Given the description of an element on the screen output the (x, y) to click on. 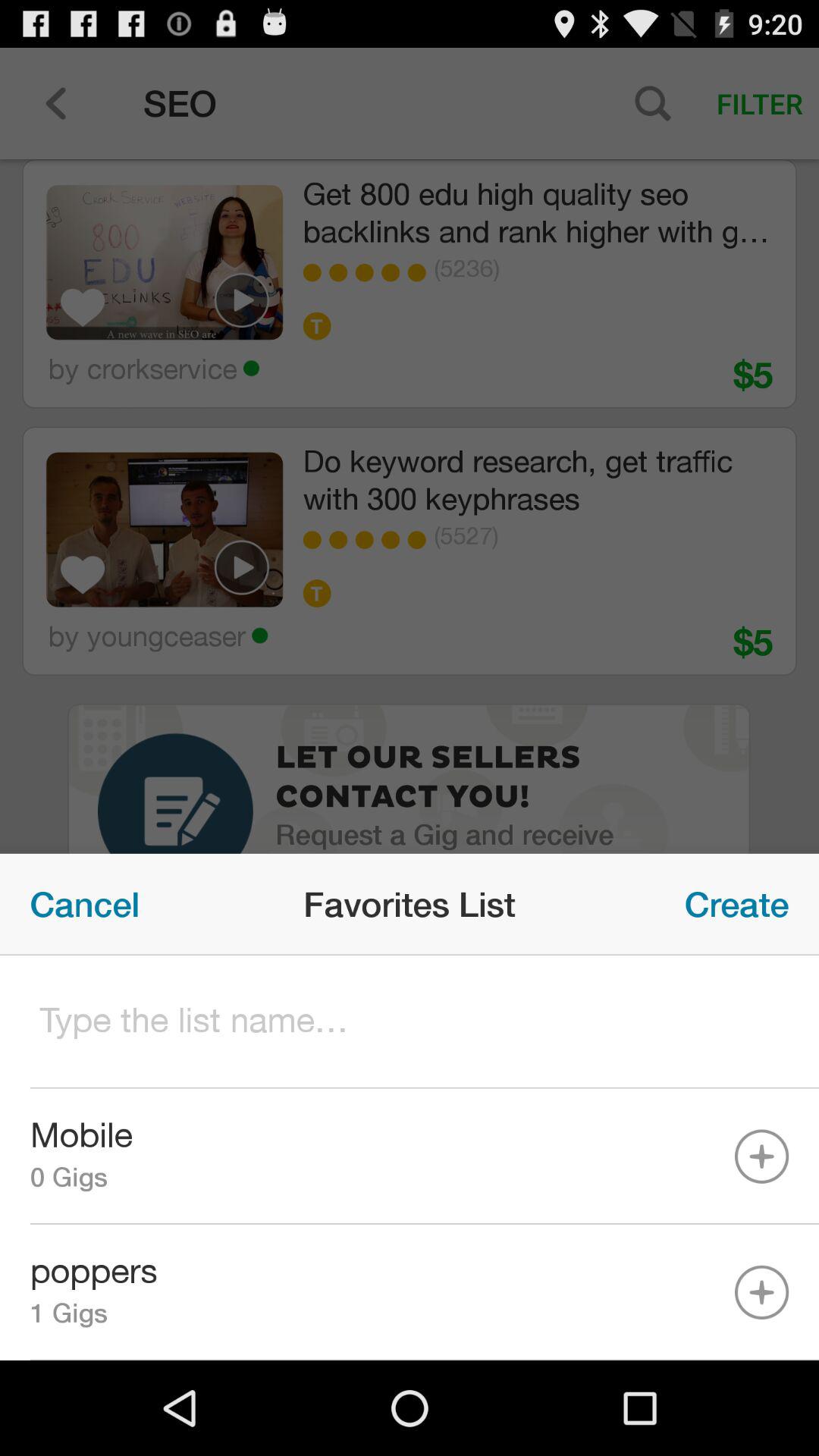
favorite list name (409, 1021)
